Given the description of an element on the screen output the (x, y) to click on. 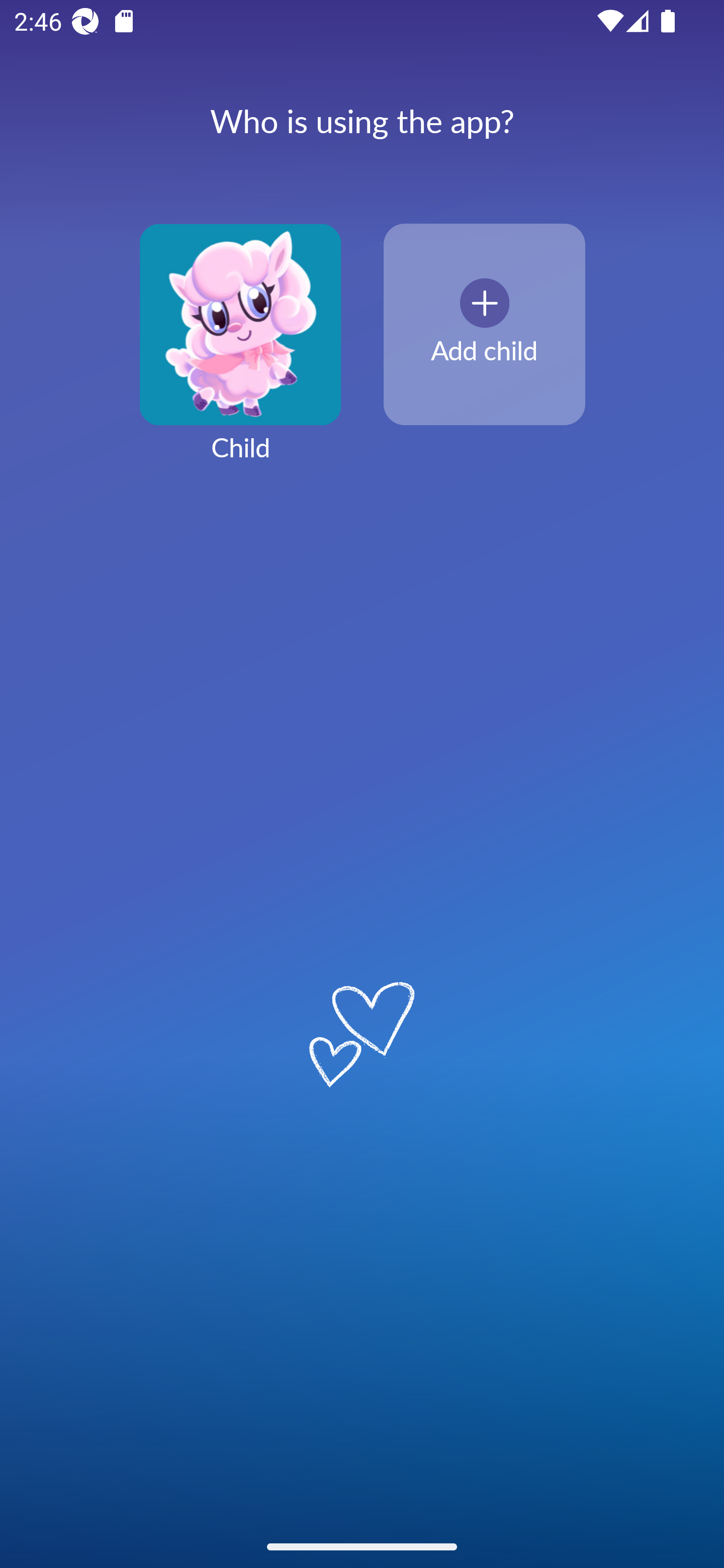
Child (240, 354)
Add child (483, 324)
